Given the description of an element on the screen output the (x, y) to click on. 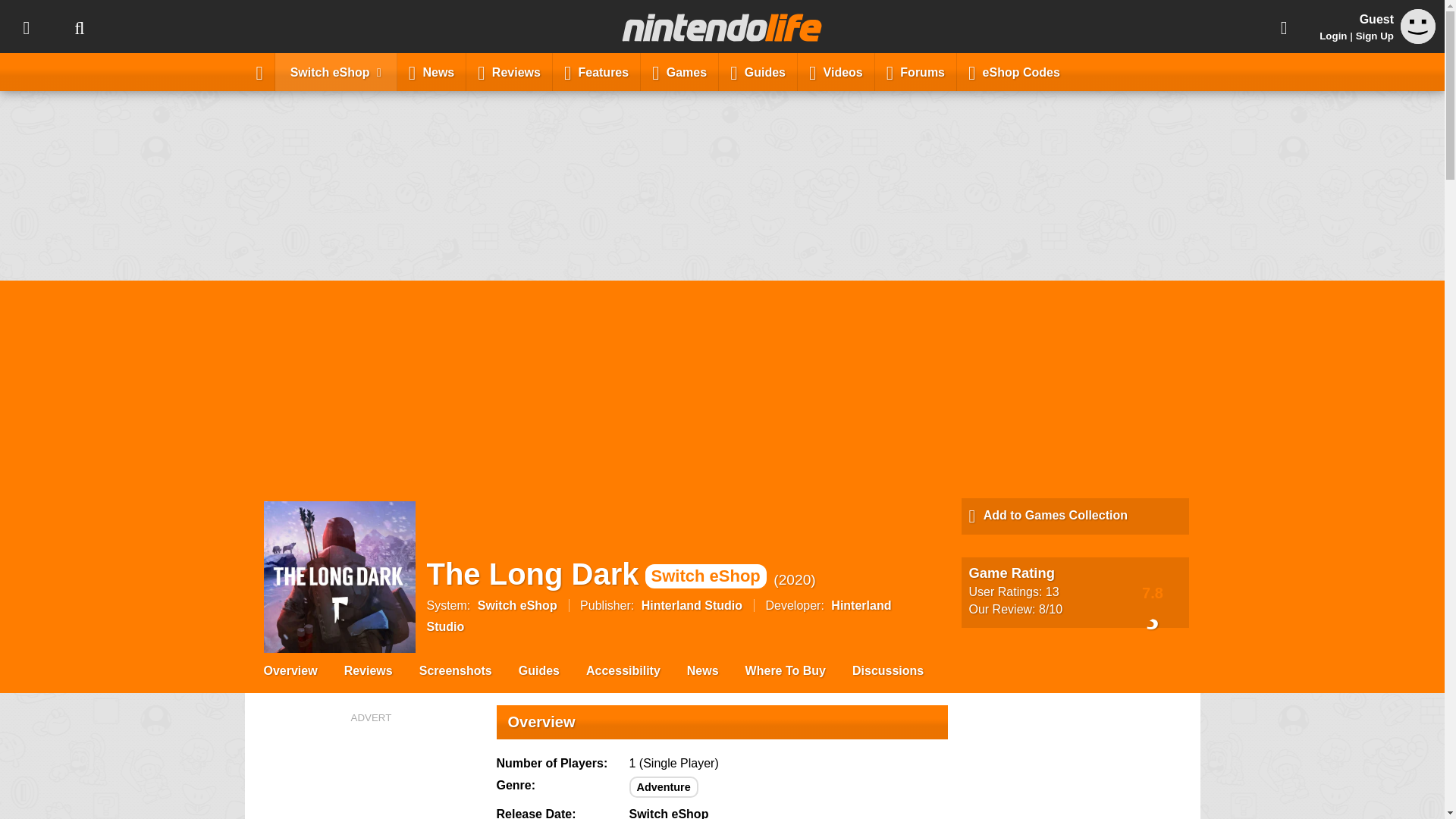
News (431, 71)
Switch eShop (336, 71)
Forums (915, 71)
Search (79, 26)
Games (679, 71)
Features (596, 71)
Nintendo Life (721, 27)
Sign Up (1374, 35)
Topics (26, 26)
eShop Codes (1013, 71)
